Given the description of an element on the screen output the (x, y) to click on. 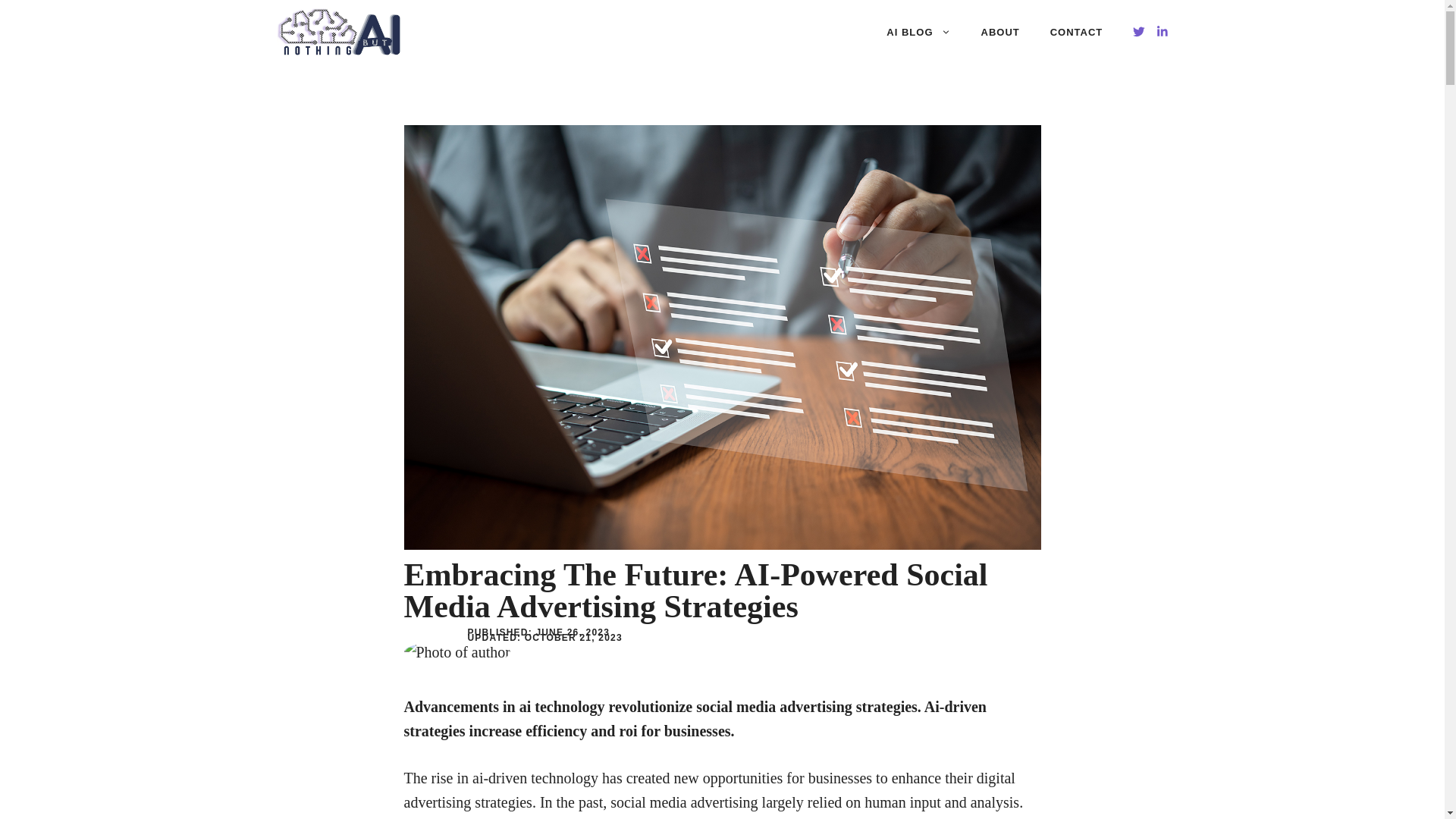
nothing but AI (338, 32)
AI BLOG (917, 32)
ABOUT (1000, 32)
CONTACT (1076, 32)
